Given the description of an element on the screen output the (x, y) to click on. 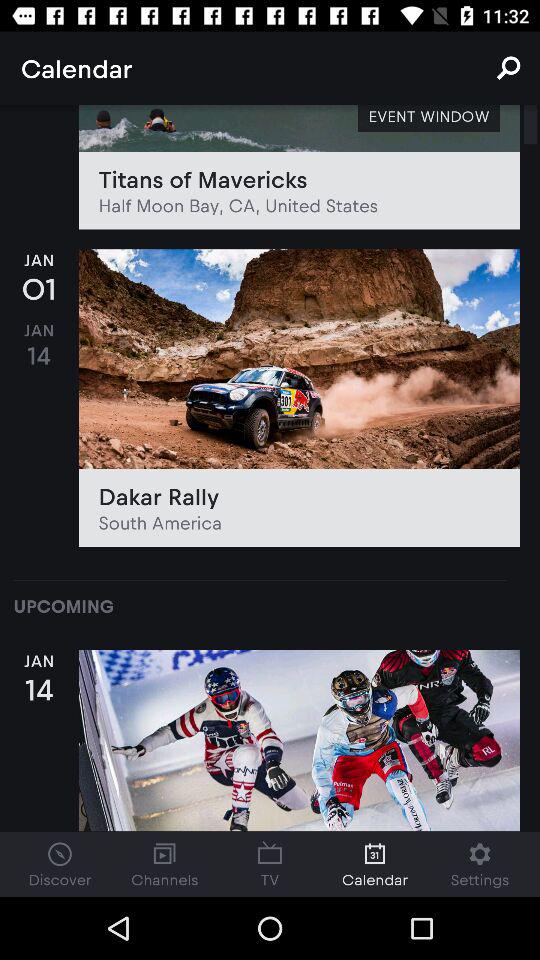
click the icon to the right of calendar (508, 67)
